Given the description of an element on the screen output the (x, y) to click on. 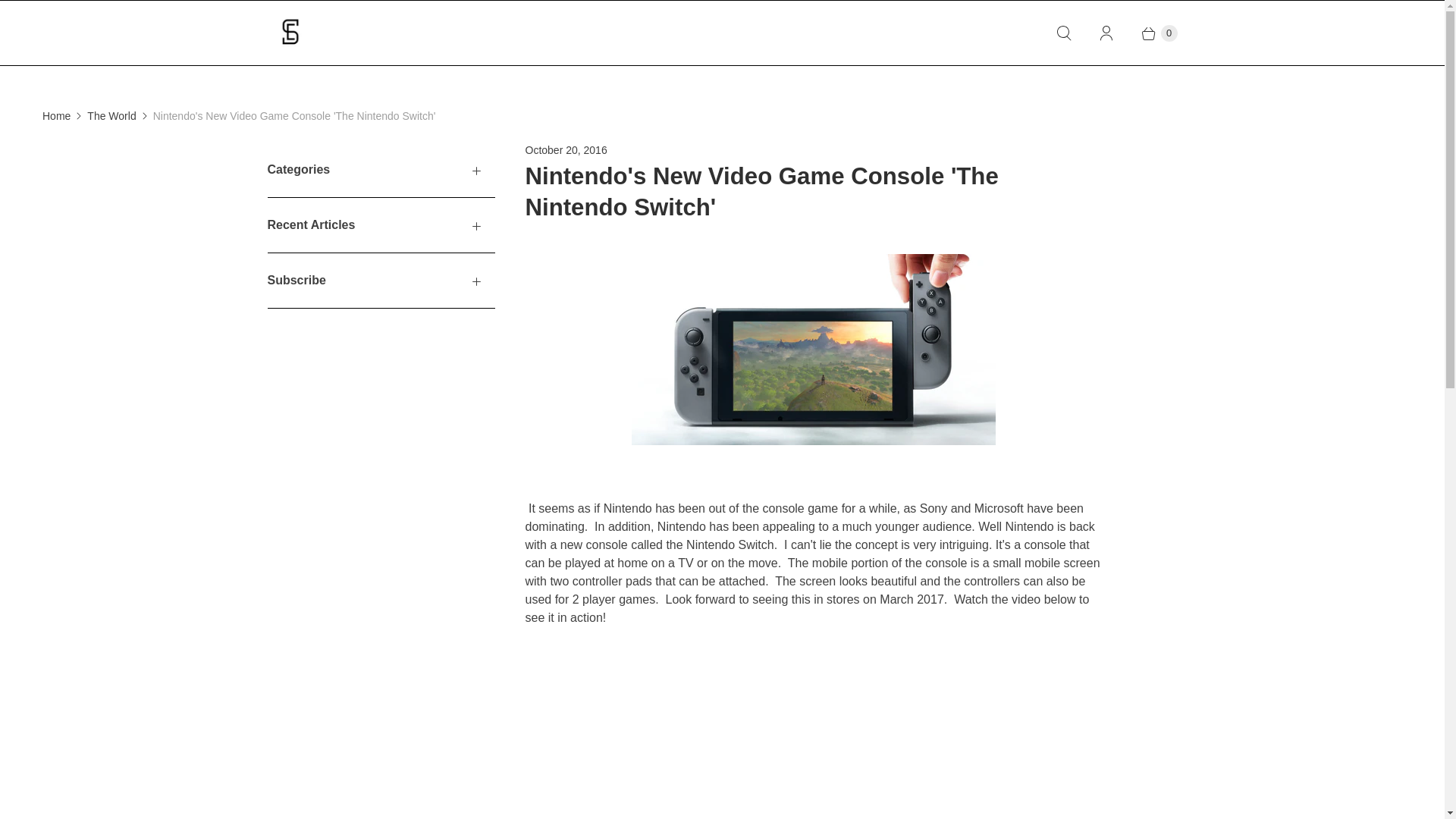
Home (55, 116)
Categories (380, 169)
0 (1151, 33)
The World (111, 116)
